Given the description of an element on the screen output the (x, y) to click on. 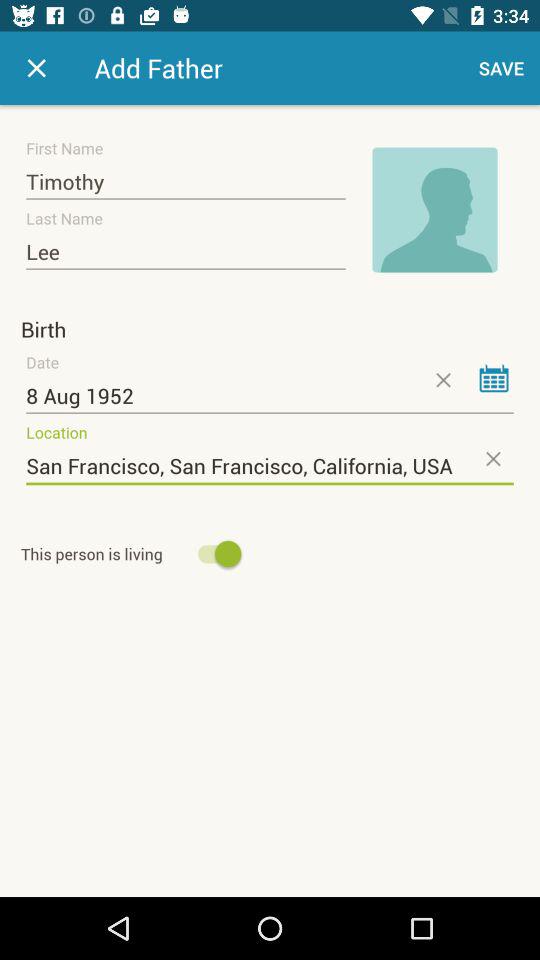
change date (494, 378)
